Given the description of an element on the screen output the (x, y) to click on. 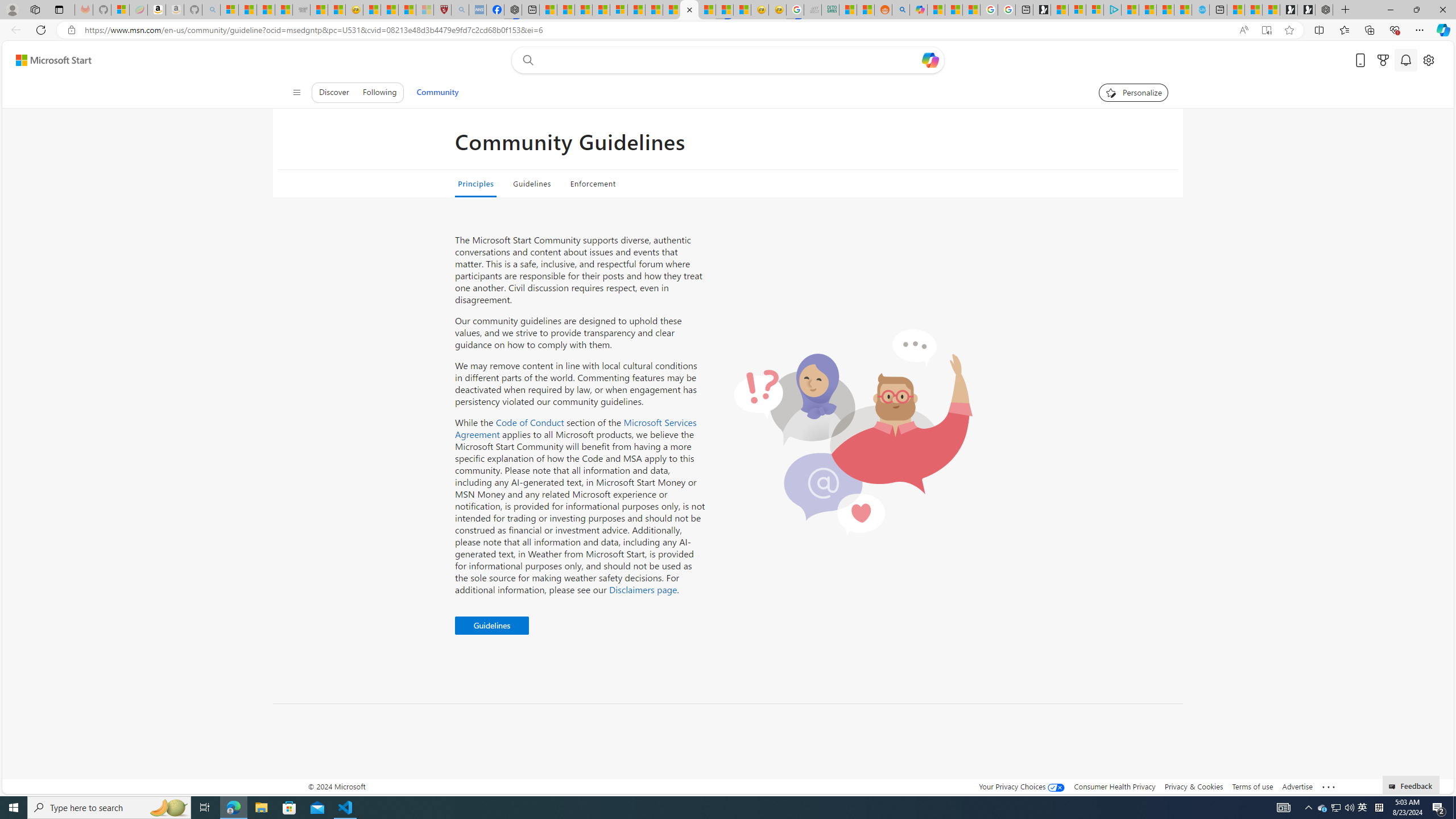
Class: control icon-only (296, 92)
Trusted Community Engagement and Contributions | Guidelines (689, 9)
Enforcement (592, 183)
Tab actions menu (58, 9)
Microsoft Copilot in Bing (917, 9)
Microsoft account | Privacy (1094, 9)
Open Copilot (930, 59)
Add this page to favorites (Ctrl+D) (1289, 29)
Personal Profile (12, 9)
Skip to content (49, 59)
Close tab (689, 9)
Browser essentials (1394, 29)
